Given the description of an element on the screen output the (x, y) to click on. 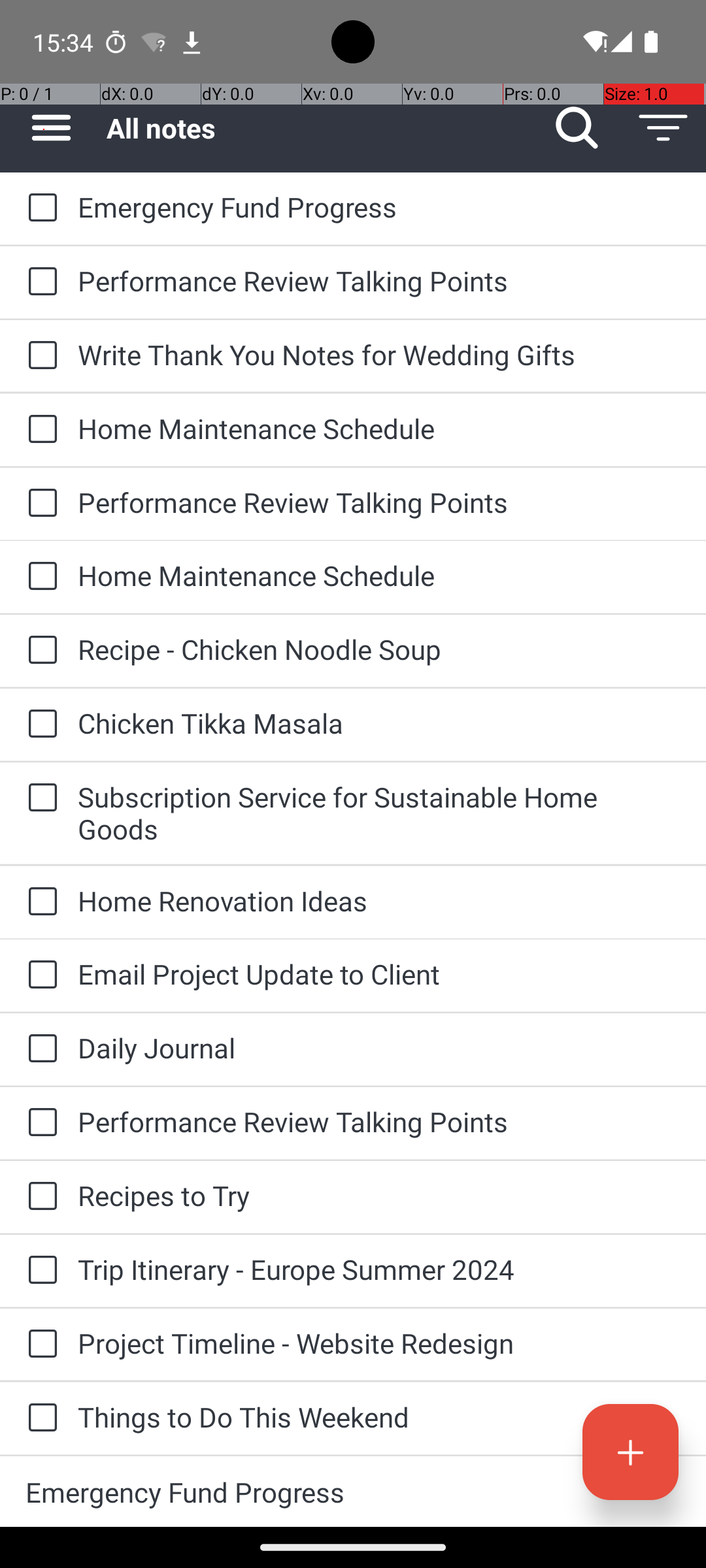
to-do: Emergency Fund Progress Element type: android.widget.CheckBox (38, 208)
Emergency Fund Progress Element type: android.widget.TextView (378, 206)
to-do: Performance Review Talking Points Element type: android.widget.CheckBox (38, 282)
to-do: Write Thank You Notes for Wedding Gifts Element type: android.widget.CheckBox (38, 356)
Write Thank You Notes for Wedding Gifts Element type: android.widget.TextView (378, 354)
to-do: Home Maintenance Schedule Element type: android.widget.CheckBox (38, 429)
Home Maintenance Schedule Element type: android.widget.TextView (378, 427)
to-do: Recipe - Chicken Noodle Soup Element type: android.widget.CheckBox (38, 650)
Recipe - Chicken Noodle Soup Element type: android.widget.TextView (378, 648)
to-do: Chicken Tikka Masala Element type: android.widget.CheckBox (38, 724)
Chicken Tikka Masala Element type: android.widget.TextView (378, 722)
to-do: Subscription Service for Sustainable Home Goods Element type: android.widget.CheckBox (38, 798)
Subscription Service for Sustainable Home Goods Element type: android.widget.TextView (378, 812)
to-do: Home Renovation Ideas Element type: android.widget.CheckBox (38, 902)
Home Renovation Ideas Element type: android.widget.TextView (378, 900)
to-do: Email Project Update to Client Element type: android.widget.CheckBox (38, 975)
Email Project Update to Client Element type: android.widget.TextView (378, 973)
to-do: Daily Journal Element type: android.widget.CheckBox (38, 1049)
Daily Journal Element type: android.widget.TextView (378, 1047)
to-do: Recipes to Try Element type: android.widget.CheckBox (38, 1196)
Recipes to Try Element type: android.widget.TextView (378, 1194)
to-do: Trip Itinerary - Europe Summer 2024 Element type: android.widget.CheckBox (38, 1270)
Trip Itinerary - Europe Summer 2024 Element type: android.widget.TextView (378, 1268)
to-do: Things to Do This Weekend Element type: android.widget.CheckBox (38, 1418)
Things to Do This Weekend Element type: android.widget.TextView (378, 1416)
